Given the description of an element on the screen output the (x, y) to click on. 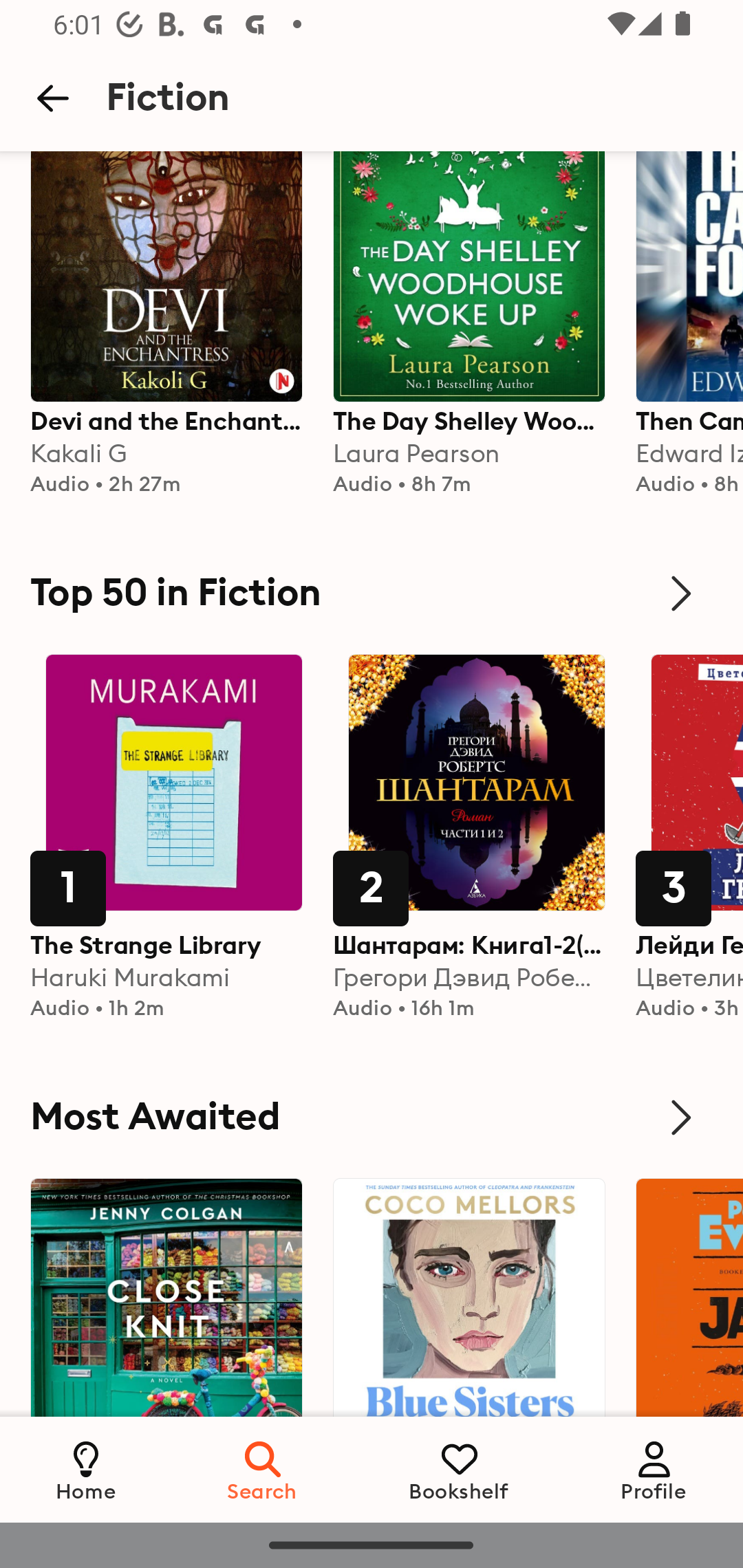
Back (52, 98)
Top 50 in Fiction (371, 593)
Most Awaited (371, 1116)
Close Knit: A Novel Jenny Colgan By: Jenny Colgan (166, 1349)
Blue Sisters Coco Mellors By: Coco Mellors (468, 1349)
Home (85, 1468)
Search (262, 1468)
Bookshelf (458, 1468)
Profile (653, 1468)
